Given the description of an element on the screen output the (x, y) to click on. 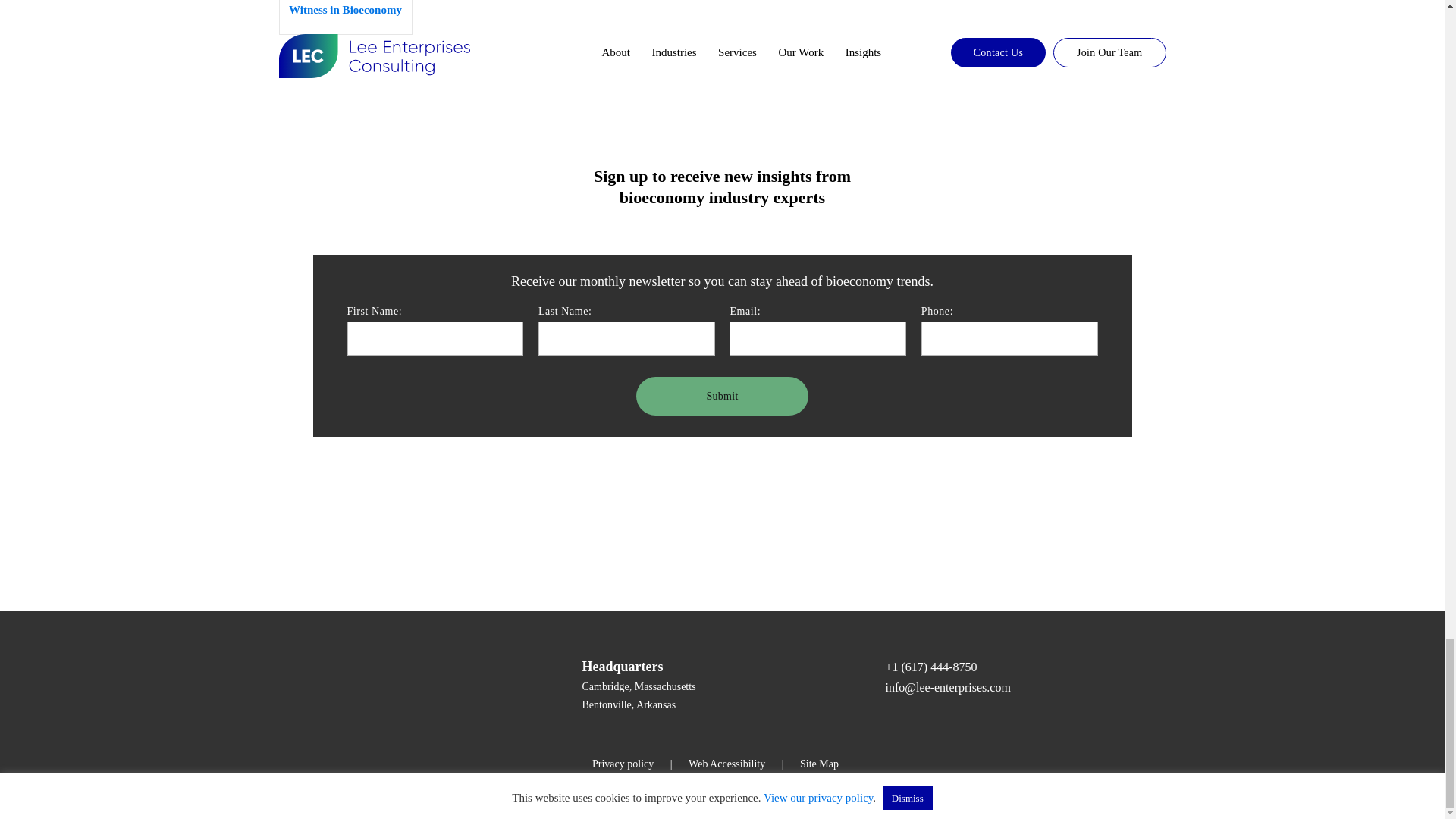
Hiring an Expert Witness in Bioeconomy Litigation (345, 17)
Footer Logo (385, 681)
Submit (722, 395)
